Given the description of an element on the screen output the (x, y) to click on. 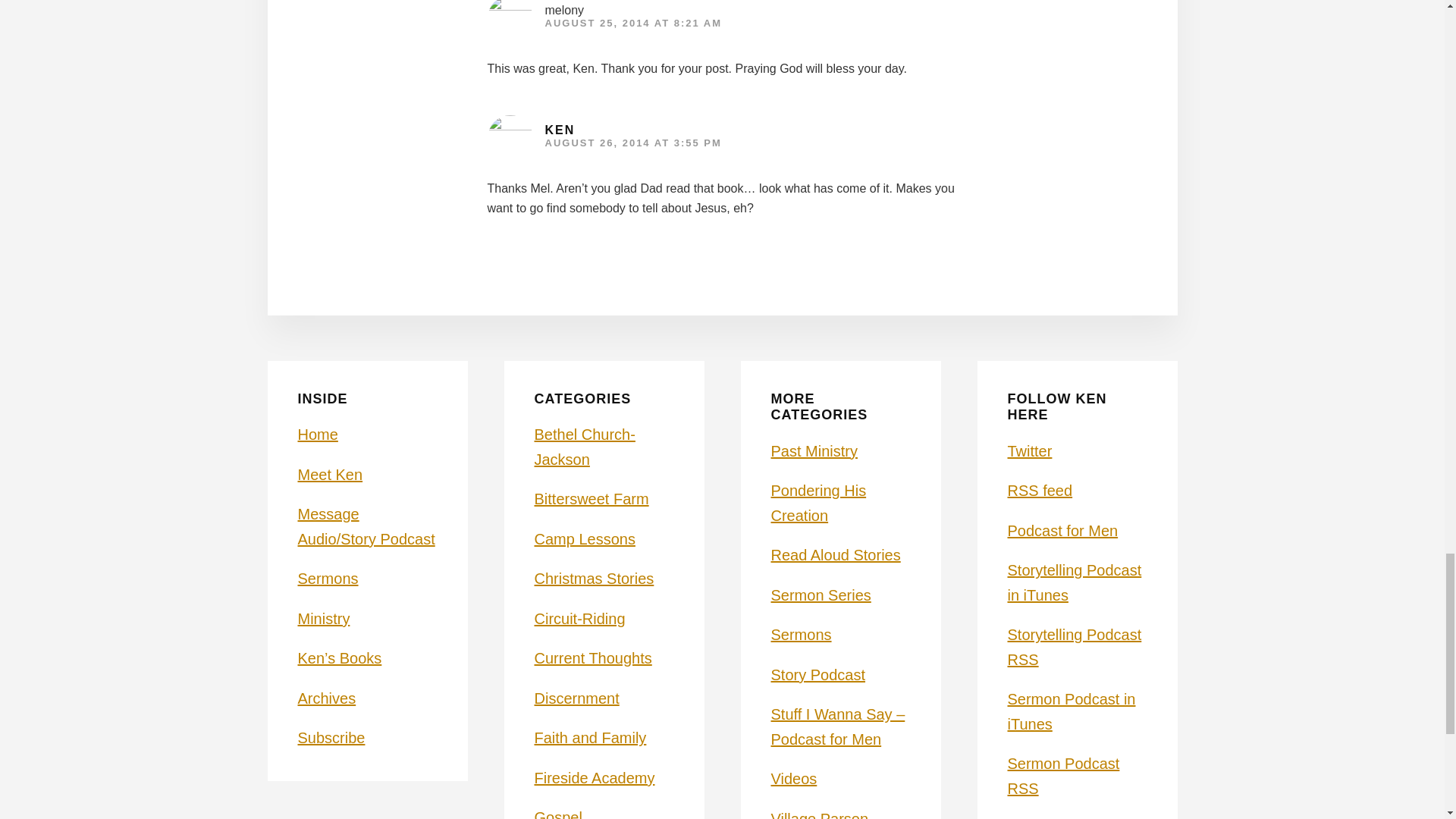
KEN (559, 129)
AUGUST 25, 2014 AT 8:21 AM (633, 22)
